Given the description of an element on the screen output the (x, y) to click on. 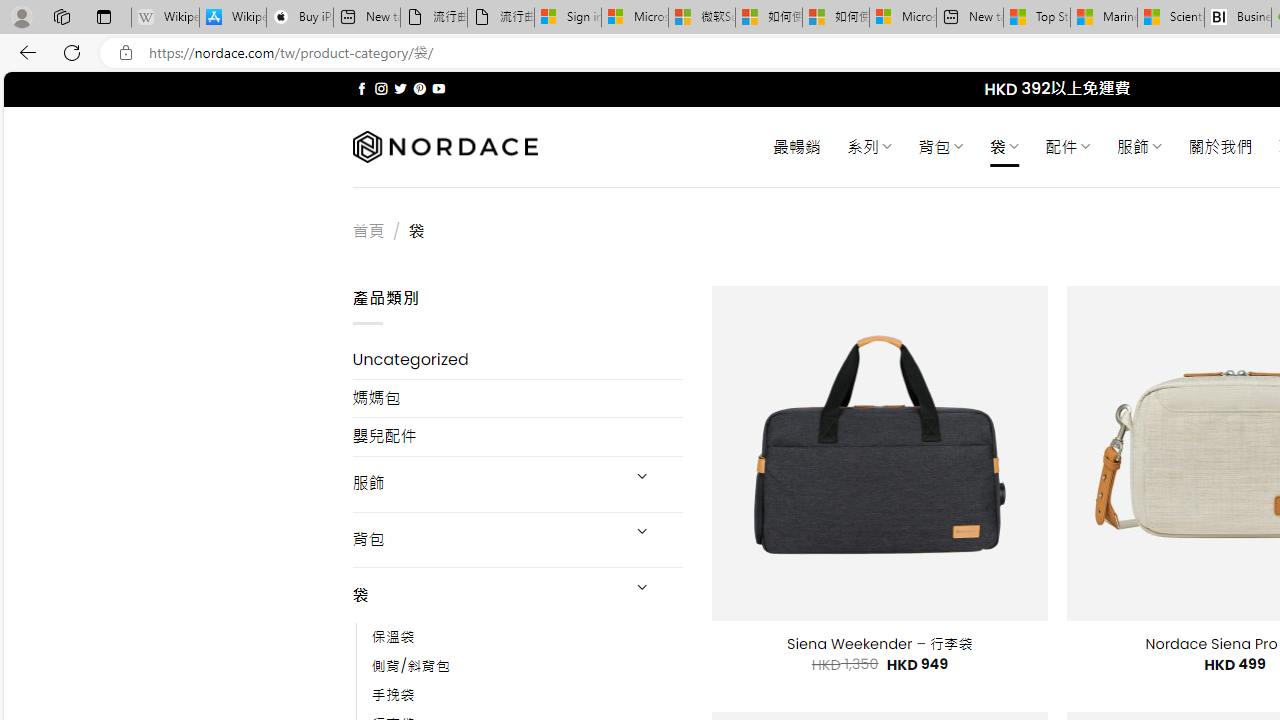
Follow on Pinterest (419, 88)
Follow on YouTube (438, 88)
Microsoft account | Account Checkup (902, 17)
Buy iPad - Apple (299, 17)
